Given the description of an element on the screen output the (x, y) to click on. 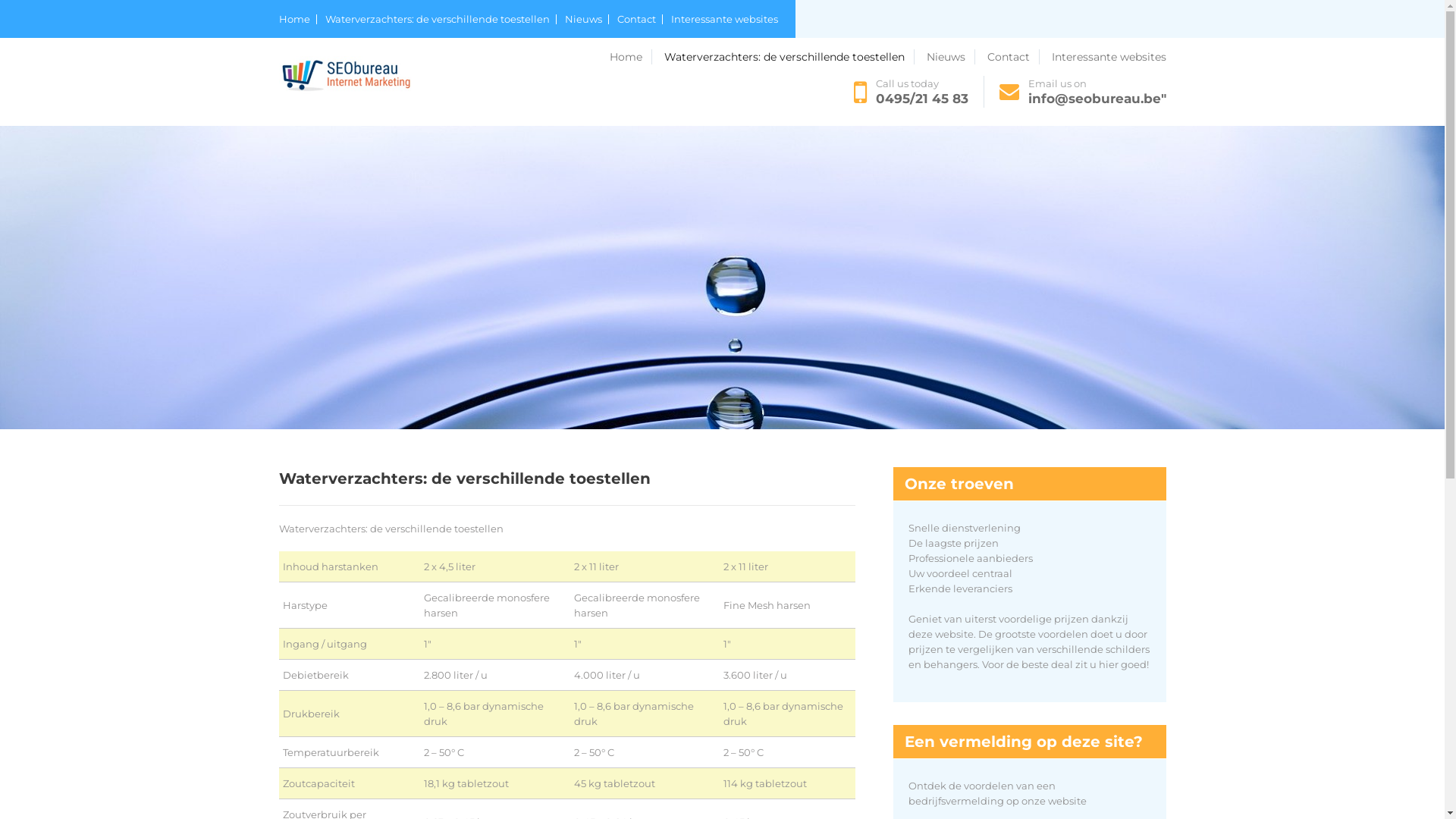
Waterverzachters: de verschillende toestellen Element type: text (789, 56)
Home Element type: text (630, 56)
info@seobureau.be" Element type: text (1097, 98)
Contact Element type: text (1013, 56)
Interessante websites Element type: text (1108, 56)
Nieuws Element type: text (586, 19)
Contact Element type: text (639, 19)
Waterverzachters: de verschillende toestellen Element type: text (439, 19)
Nieuws Element type: text (950, 56)
Home Element type: text (297, 19)
Interessante websites Element type: text (723, 19)
